Given the description of an element on the screen output the (x, y) to click on. 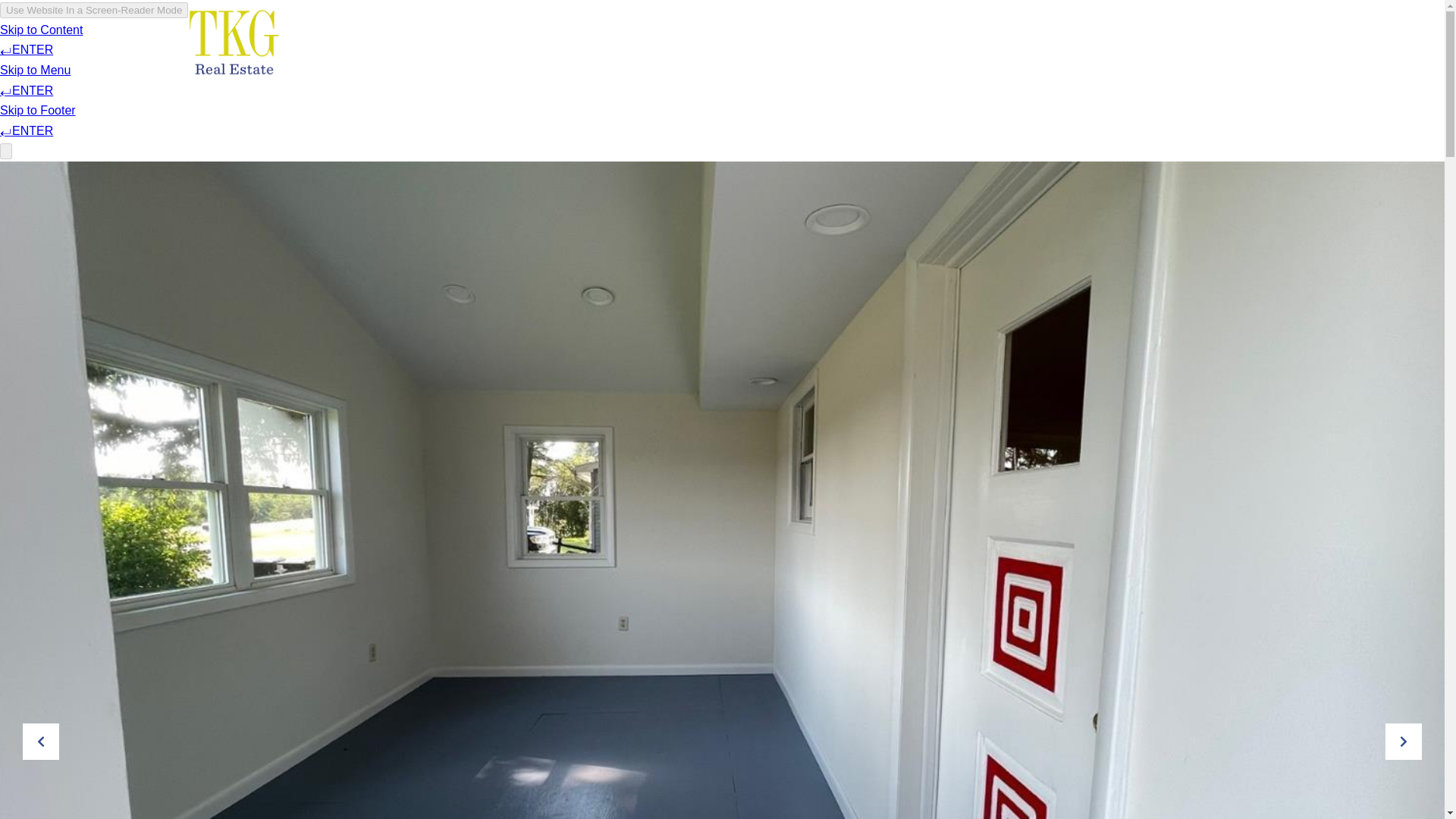
MEET THE TEAM (783, 41)
LIST YOUR PROPERTY (1037, 41)
HOME VALUATION (901, 41)
CONTACT US (1158, 41)
